Given the description of an element on the screen output the (x, y) to click on. 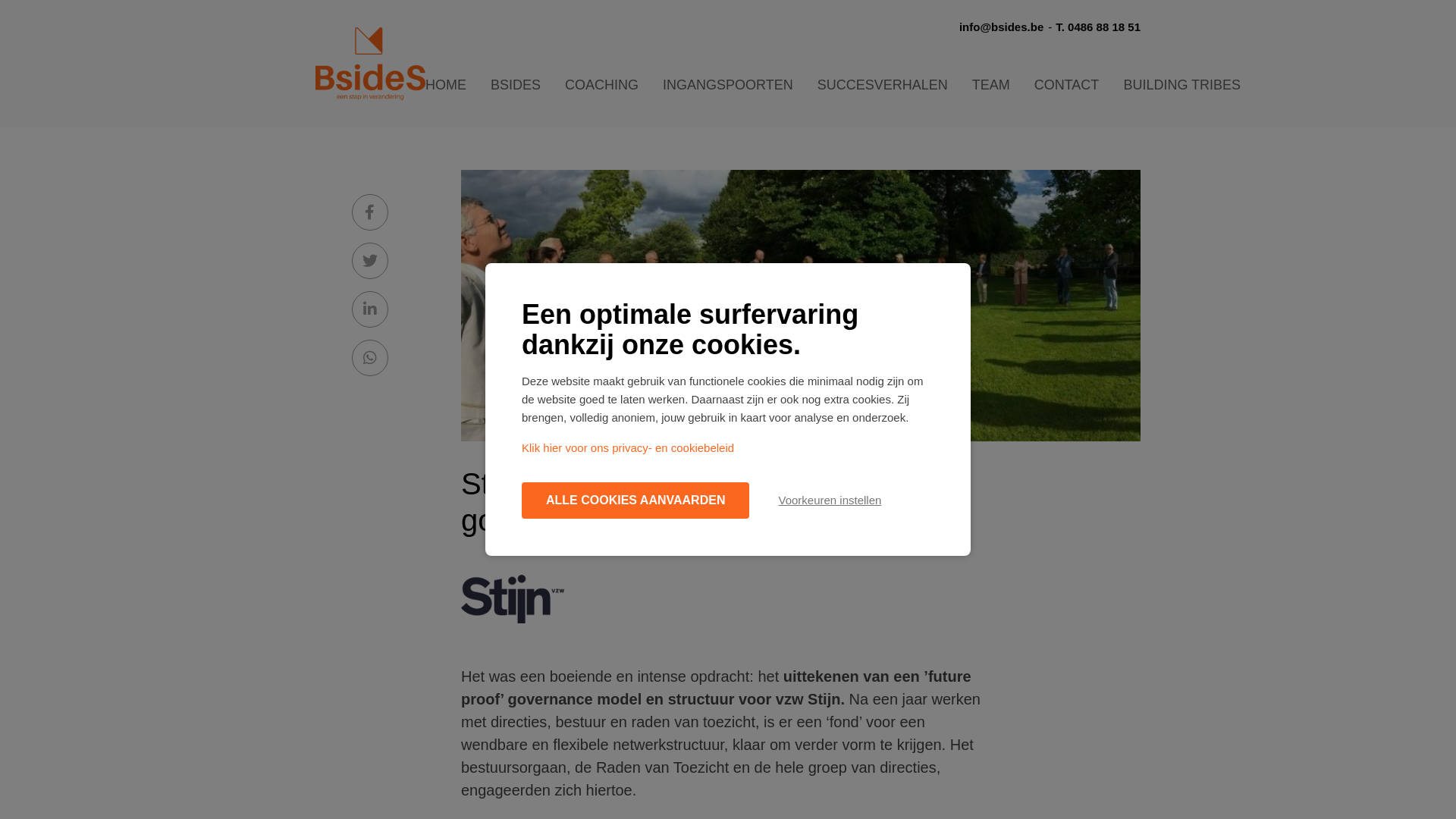
Share on WhatsApp Element type: hover (369, 357)
INGANGSPOORTEN Element type: text (727, 84)
Voorkeuren instellen Element type: text (829, 500)
Tweet Element type: hover (369, 260)
BUILDING TRIBES Element type: text (1181, 84)
TEAM Element type: text (991, 84)
BSIDES Element type: text (515, 84)
Share on LinkedIn Element type: hover (369, 309)
COACHING Element type: text (601, 84)
SUCCESVERHALEN Element type: text (882, 84)
Klik hier voor ons privacy- en cookiebeleid Element type: text (627, 448)
CONTACT Element type: text (1066, 84)
Share on Facebook Element type: hover (369, 212)
ALLE COOKIES AANVAARDEN Element type: text (635, 500)
HOME Element type: text (445, 84)
